Given the description of an element on the screen output the (x, y) to click on. 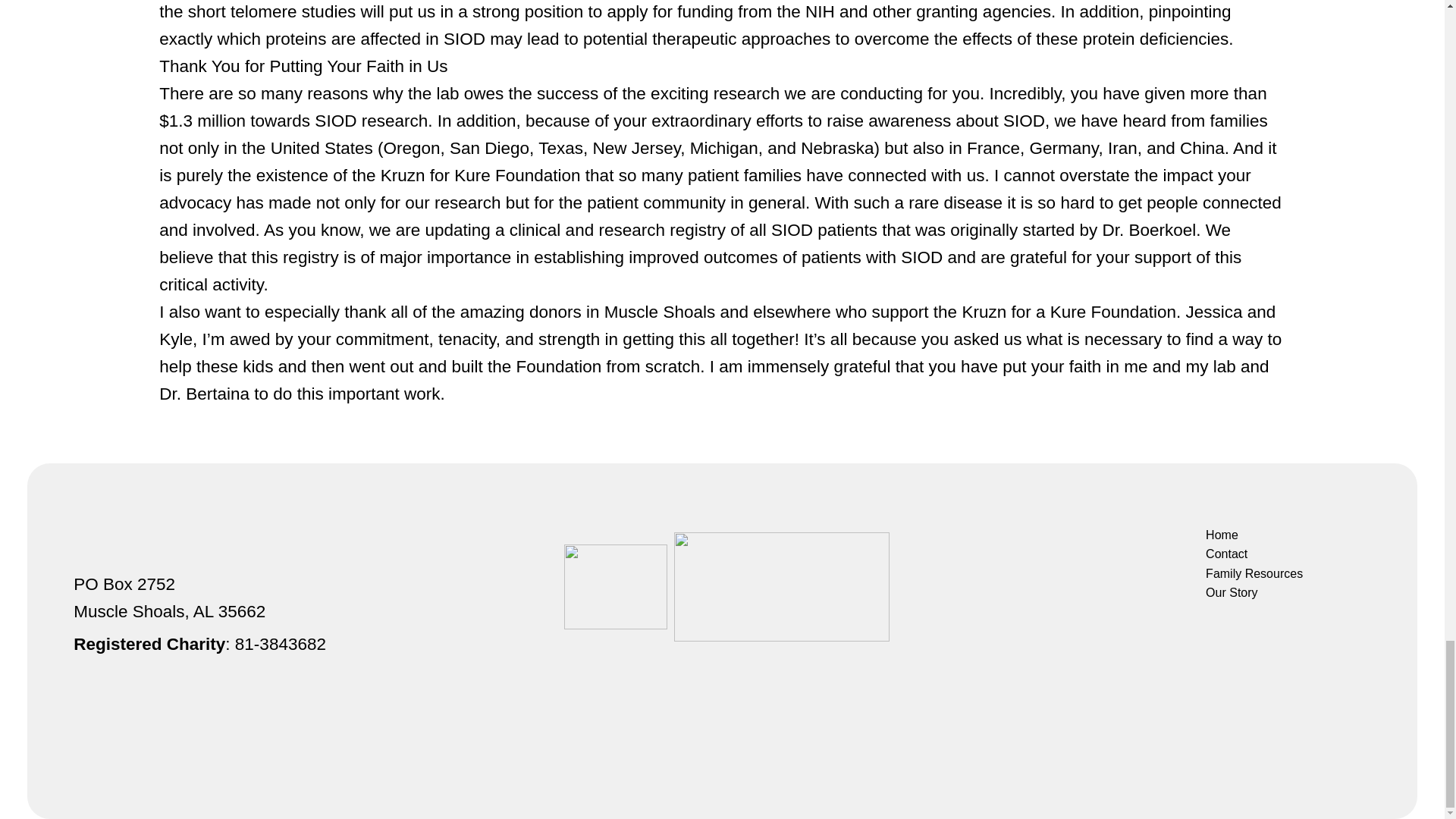
Home (1252, 535)
Our Story (1252, 592)
Contact (1252, 554)
Family Resources (1252, 573)
